Given the description of an element on the screen output the (x, y) to click on. 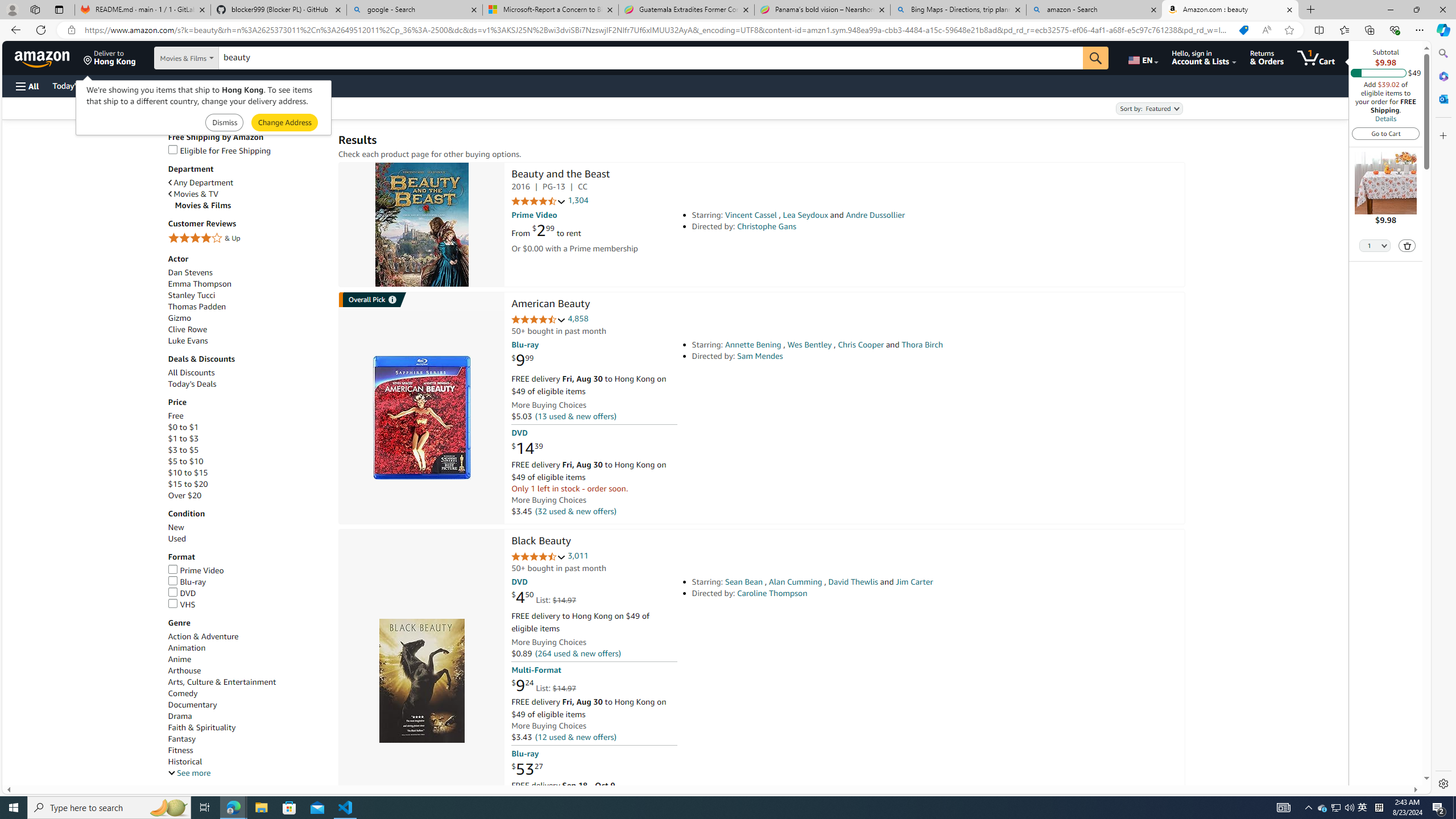
Arthouse (247, 670)
$3 to $5 (247, 450)
New (247, 527)
Any Department (247, 182)
Gift Cards (251, 85)
See more, Genre (189, 773)
Documentary (247, 705)
All Discounts (247, 372)
Comedy (182, 692)
Animation (186, 647)
Go (1096, 57)
Emma Thompson (247, 284)
Wes Bentley (809, 344)
